Given the description of an element on the screen output the (x, y) to click on. 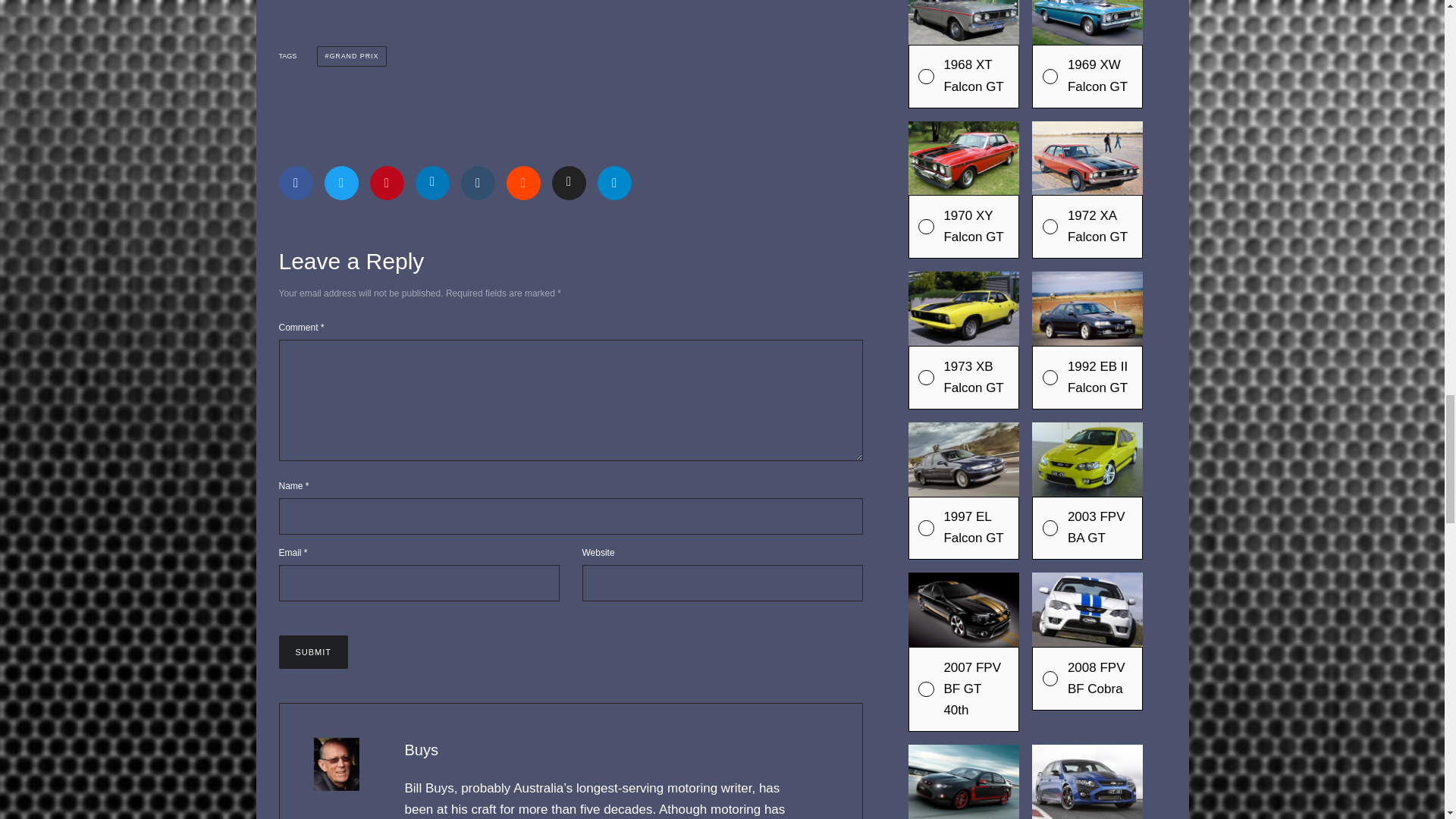
GRAND PRIX (352, 55)
Submit (314, 652)
